Given the description of an element on the screen output the (x, y) to click on. 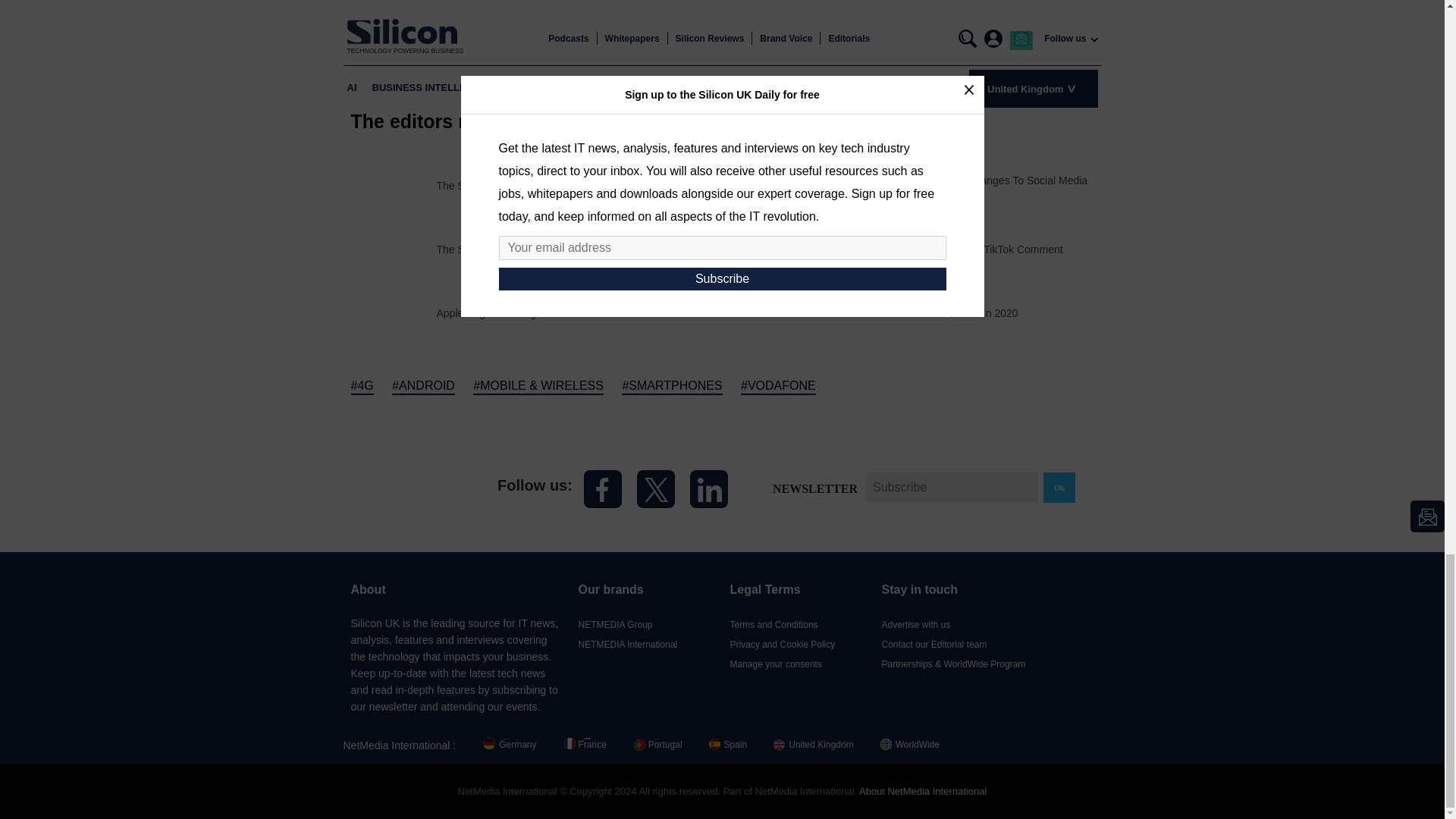
Apple Executive Departs After Crude TikTok Comment (935, 249)
477497Vodafone Launches Super-Powered Budget Smartphone (393, 311)
The State of M-Commerce 2024 (512, 185)
Apple Begins Making iPhone 14 Handsets In India (554, 312)
520199Vodafone Launches Super-Powered Budget Smartphone (764, 184)
The State of IoT: Audio Roundtable (518, 249)
478332Vodafone Launches Super-Powered Budget Smartphone (764, 247)
550564Vodafone Launches Super-Powered Budget Smartphone (393, 184)
479969Vodafone Launches Super-Powered Budget Smartphone (393, 247)
